Given the description of an element on the screen output the (x, y) to click on. 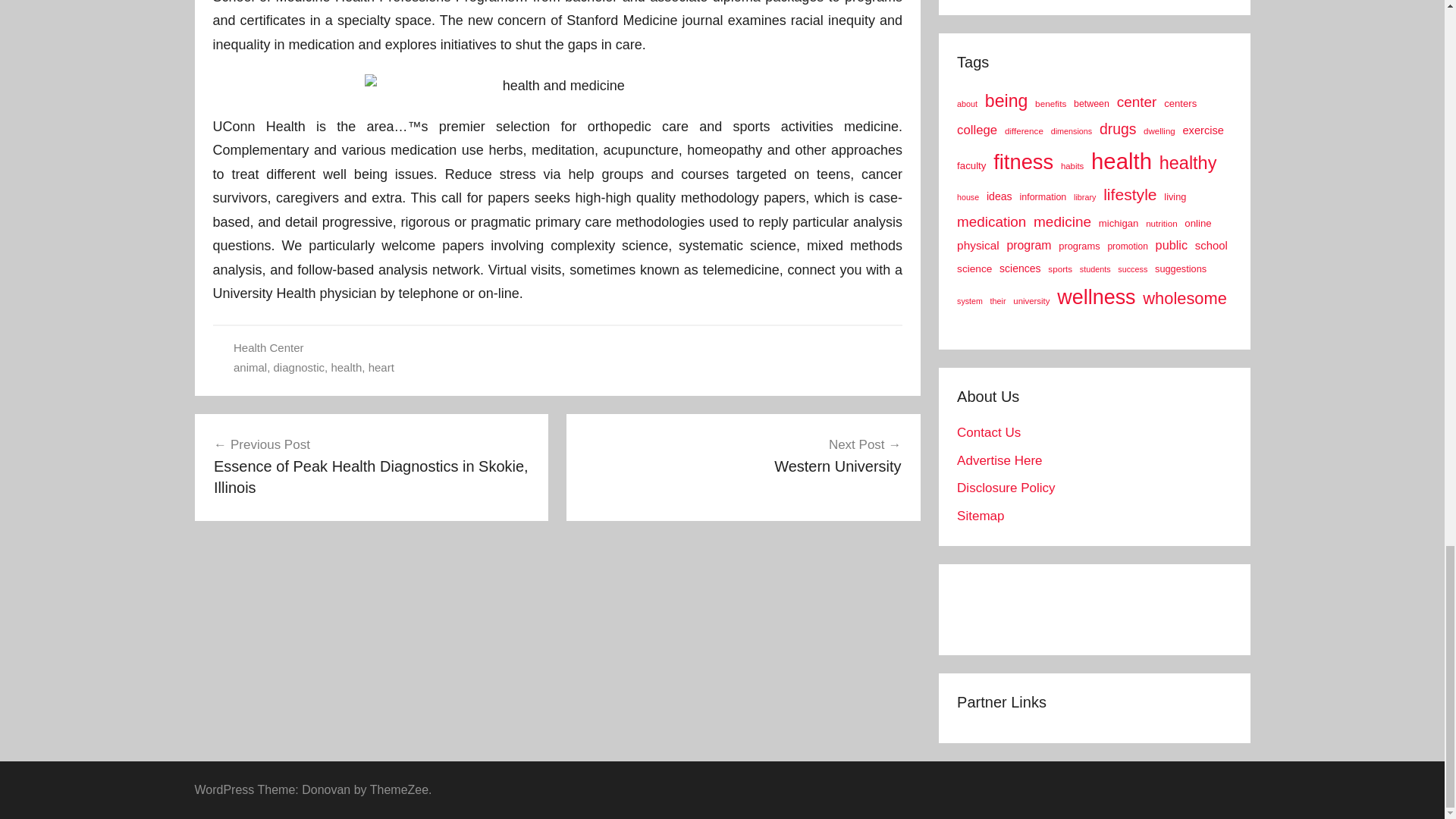
Health Center (743, 455)
diagnostic (268, 347)
heart (298, 367)
health (381, 367)
animal (345, 367)
